Given the description of an element on the screen output the (x, y) to click on. 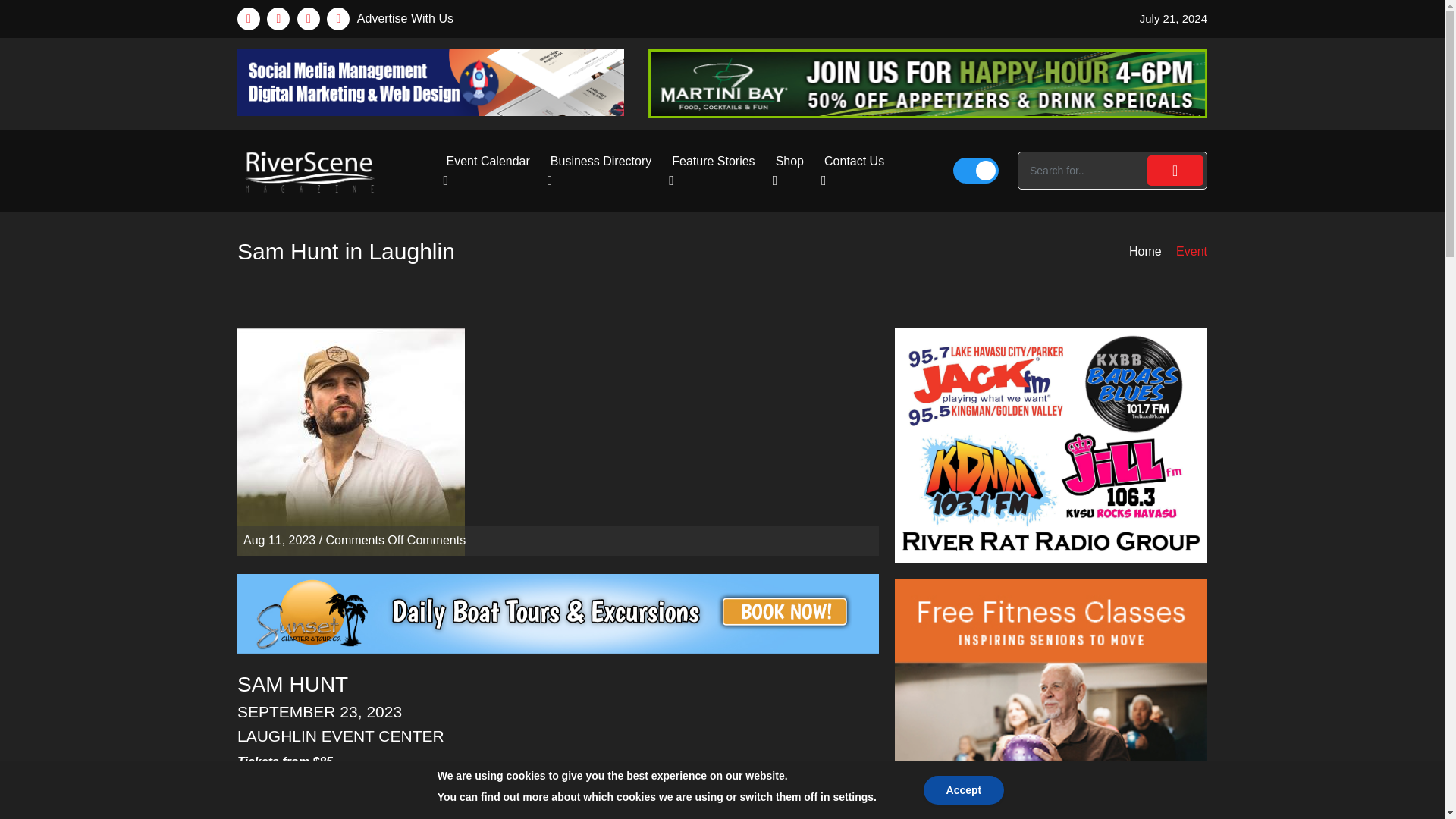
Business Directory (601, 170)
Martini Bay (927, 83)
Feature Stories (713, 170)
RiverScene Magazine (308, 170)
Event Calendar (489, 170)
Lake Havasu Business Directory (601, 170)
Lake Havasu Event Calendar (489, 170)
Advertise With Us (404, 18)
